Given the description of an element on the screen output the (x, y) to click on. 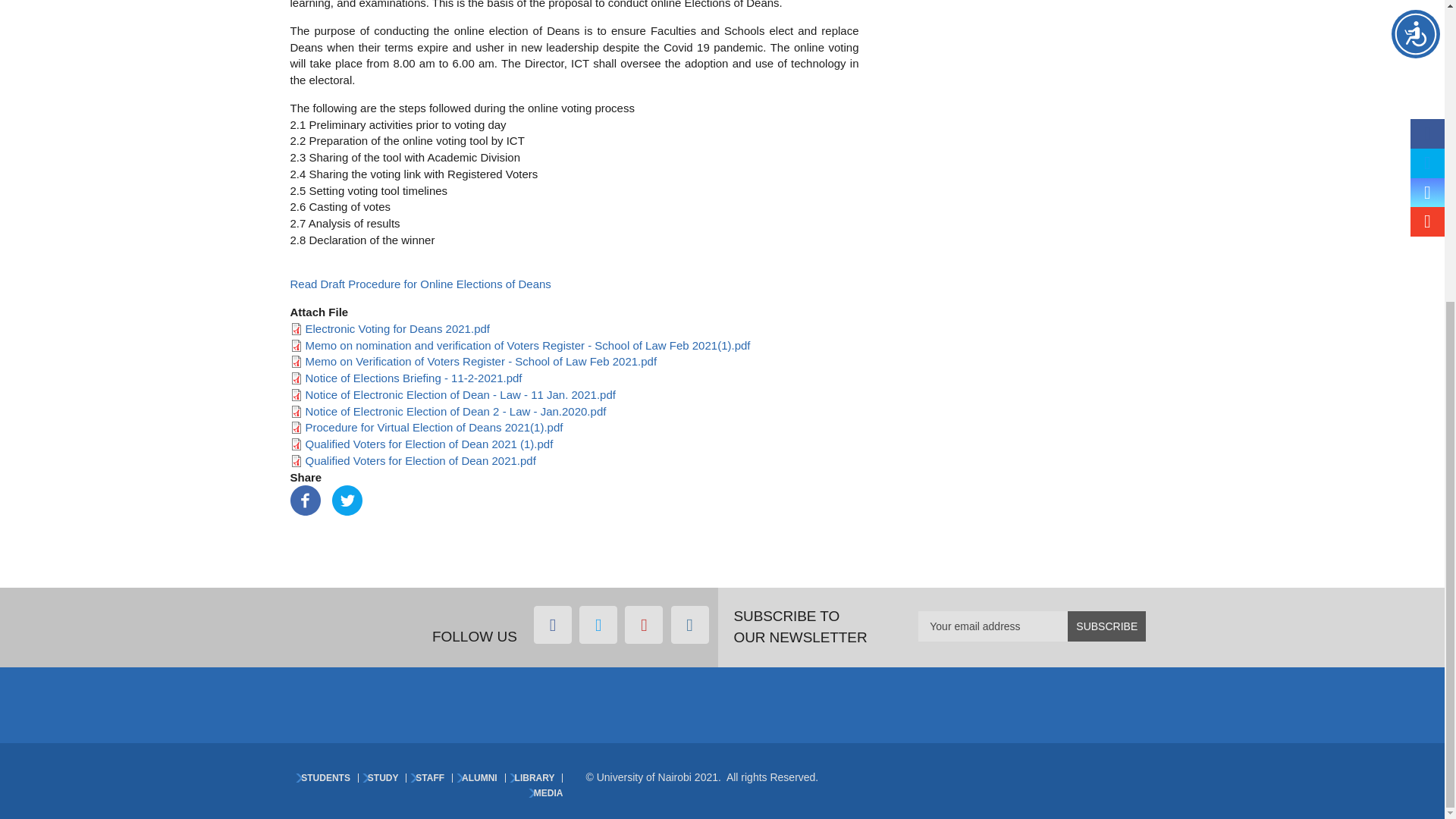
SUBSCRIBE (1106, 625)
Your email address (1031, 625)
